Given the description of an element on the screen output the (x, y) to click on. 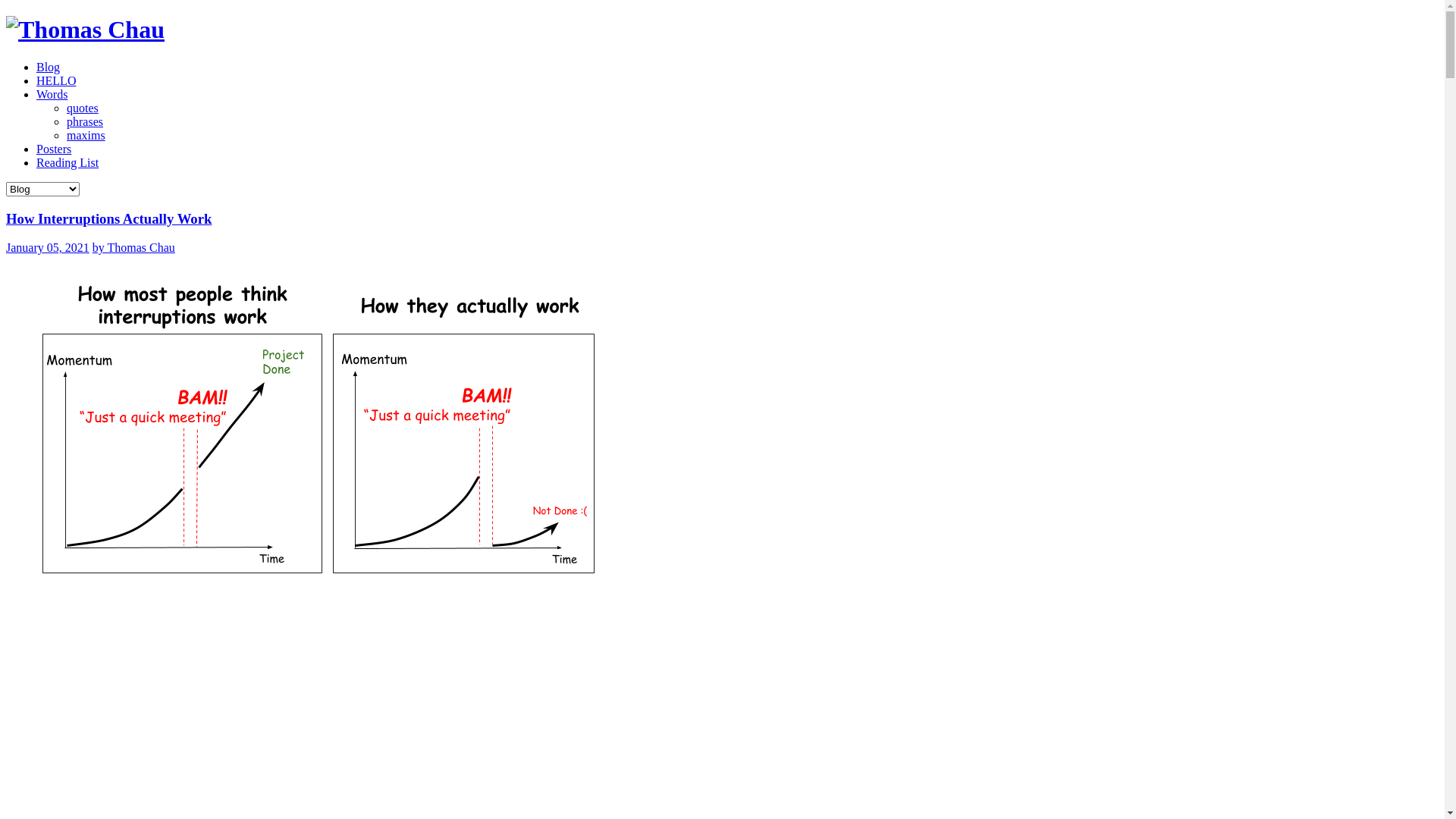
quotes Element type: text (82, 107)
January 05, 2021 Element type: text (47, 247)
Thomas Chau Element type: hover (85, 29)
phrases Element type: text (84, 121)
HELLO Element type: text (55, 80)
Blog Element type: text (47, 66)
Reading List Element type: text (67, 162)
Words Element type: text (51, 93)
How Interruptions Actually Work Element type: text (108, 218)
by Thomas Chau Element type: text (133, 247)
maxims Element type: text (85, 134)
Posters Element type: text (53, 148)
